Given the description of an element on the screen output the (x, y) to click on. 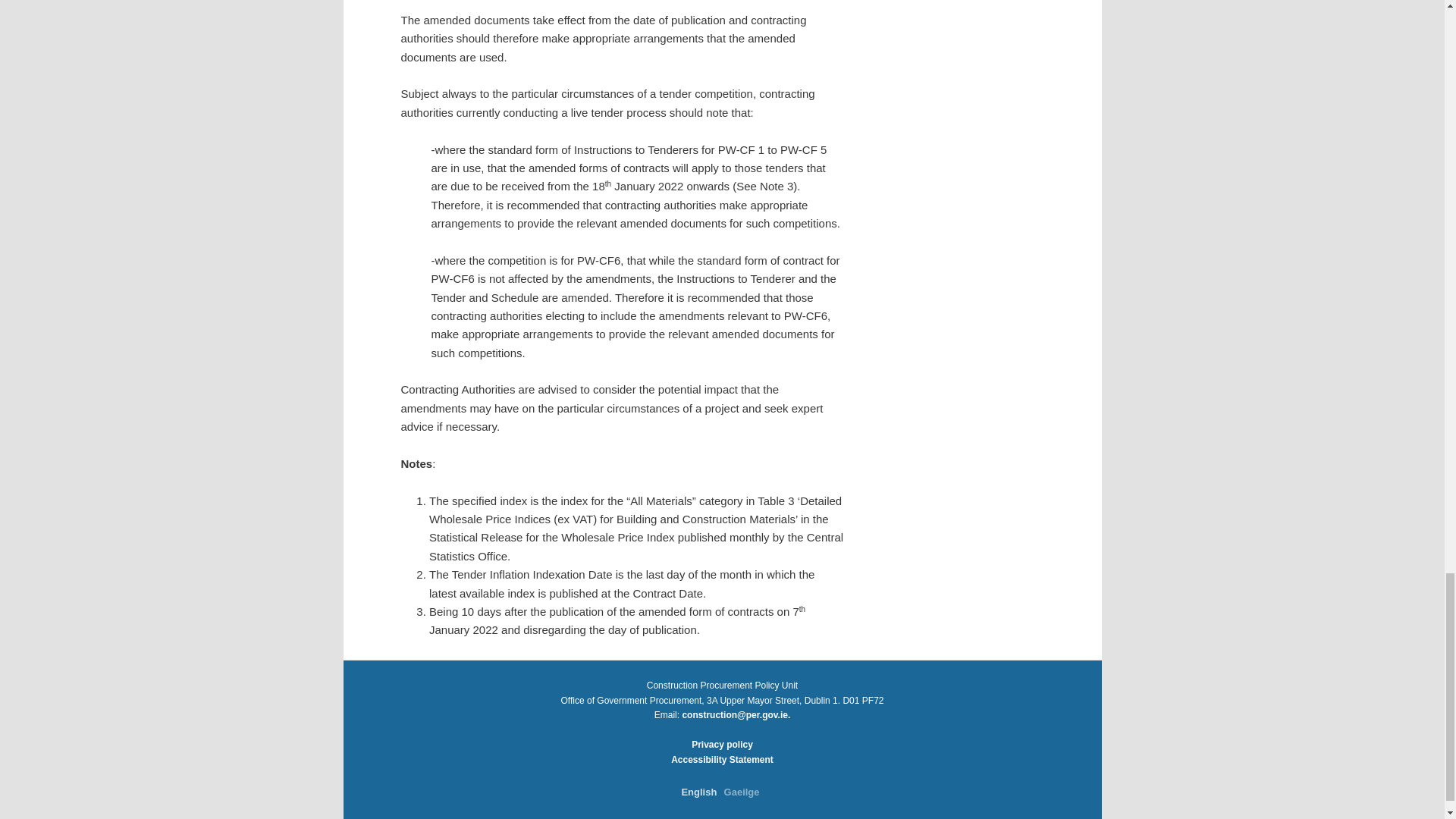
English (698, 791)
Accessibility Statement (722, 759)
Gaeilge (741, 791)
Privacy policy (721, 744)
